Given the description of an element on the screen output the (x, y) to click on. 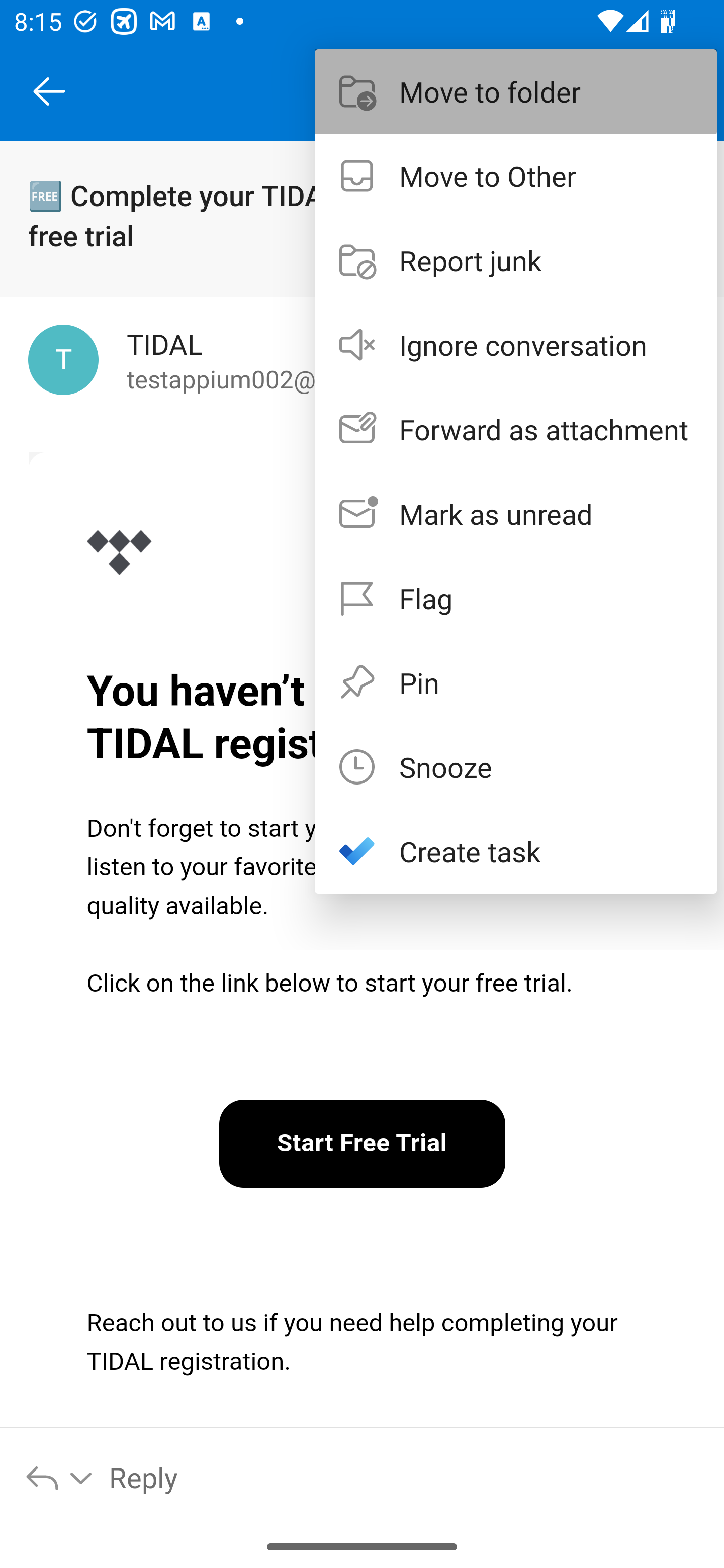
Move to folder (515, 90)
Move to Other (515, 175)
Report junk (515, 259)
Ignore conversation (515, 344)
Forward as attachment (515, 429)
Mark as unread (515, 513)
Flag (515, 597)
Pin (515, 681)
Snooze (515, 766)
Create task (515, 851)
